Given the description of an element on the screen output the (x, y) to click on. 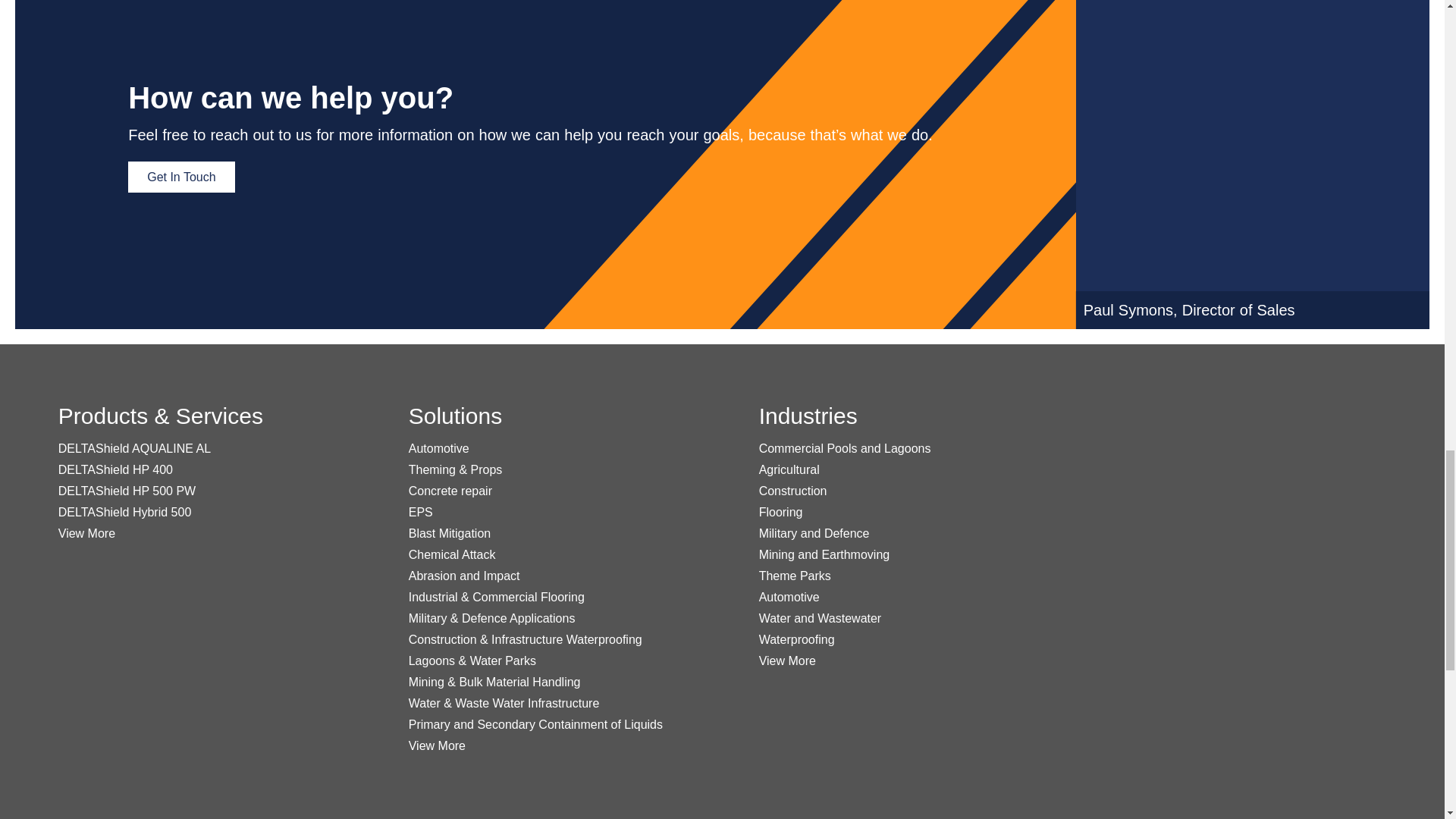
Concrete repair (450, 490)
View More (86, 533)
Automotive (438, 448)
EPS (420, 512)
Abrasion and Impact (464, 575)
DELTAShield HP 500 PW (126, 490)
DELTAShield HP 400 (115, 469)
DELTAShield AQUALINE AL (134, 448)
DELTAShield Hybrid 500 (125, 512)
Get In Touch (181, 176)
